Given the description of an element on the screen output the (x, y) to click on. 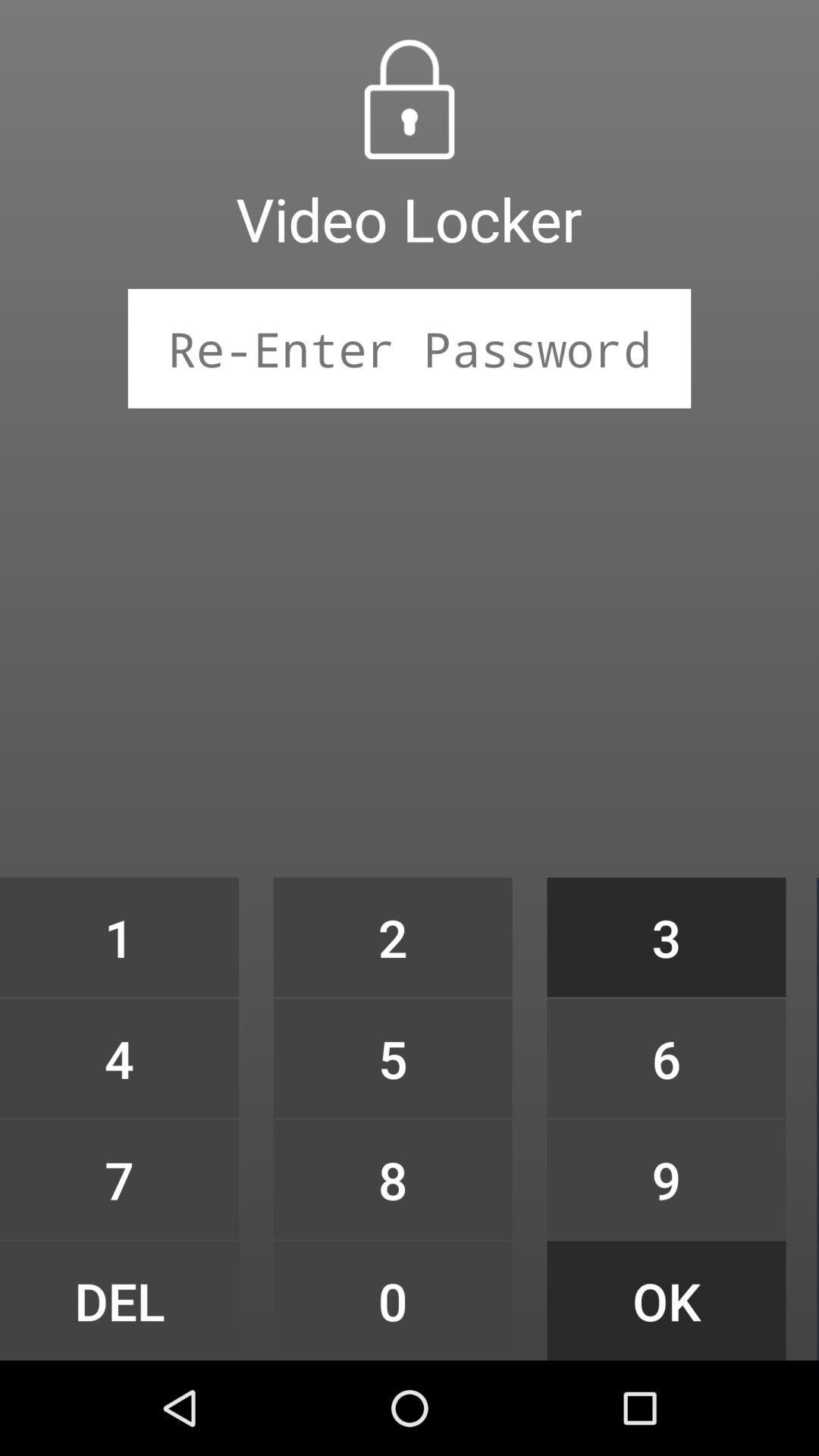
choose icon above 4 (119, 937)
